Given the description of an element on the screen output the (x, y) to click on. 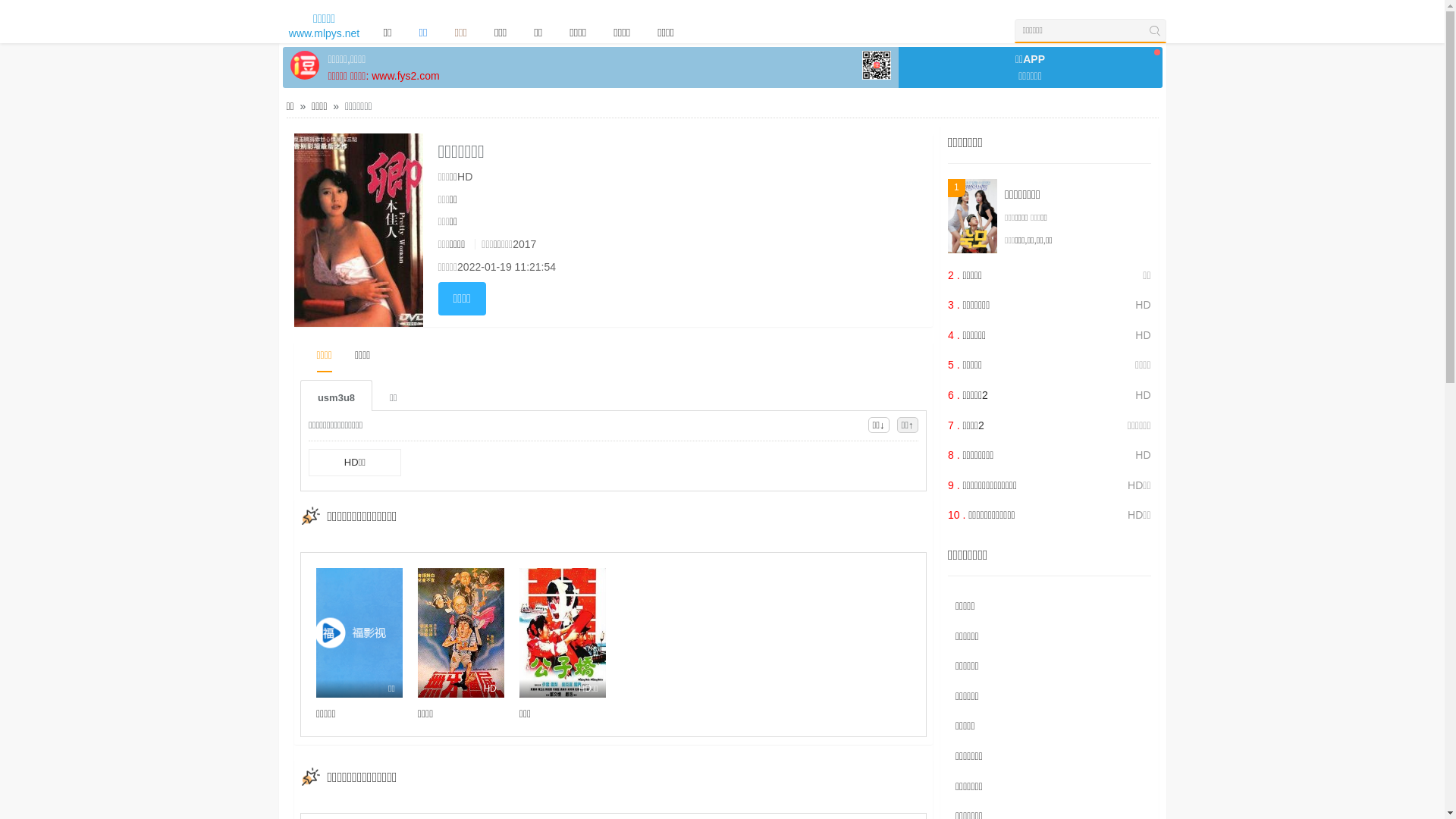
1 Element type: text (972, 215)
HD Element type: text (460, 632)
usm3u8 Element type: text (336, 395)
